Given the description of an element on the screen output the (x, y) to click on. 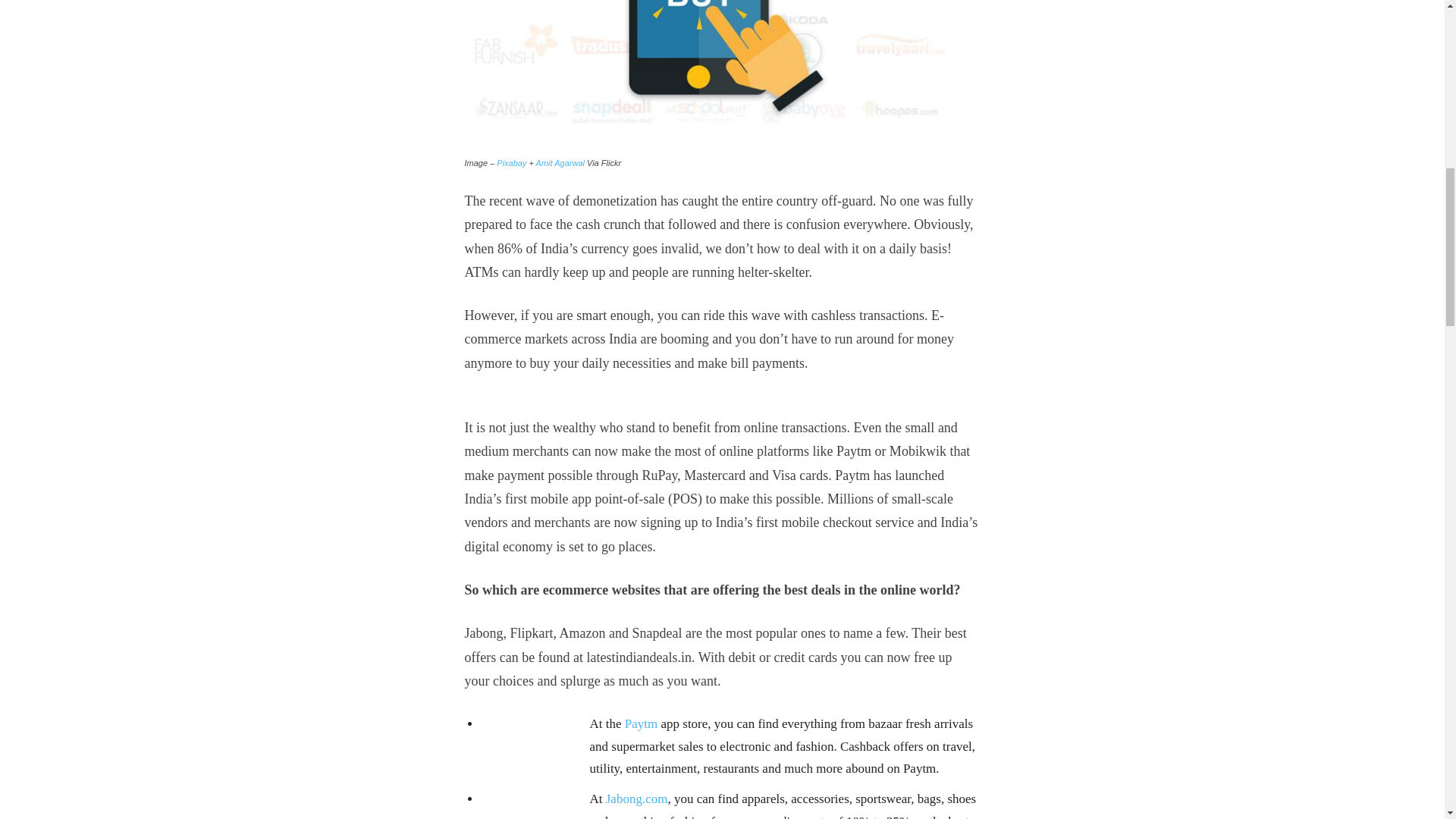
Pixabay (510, 162)
Amit Agarwal (560, 162)
